Given the description of an element on the screen output the (x, y) to click on. 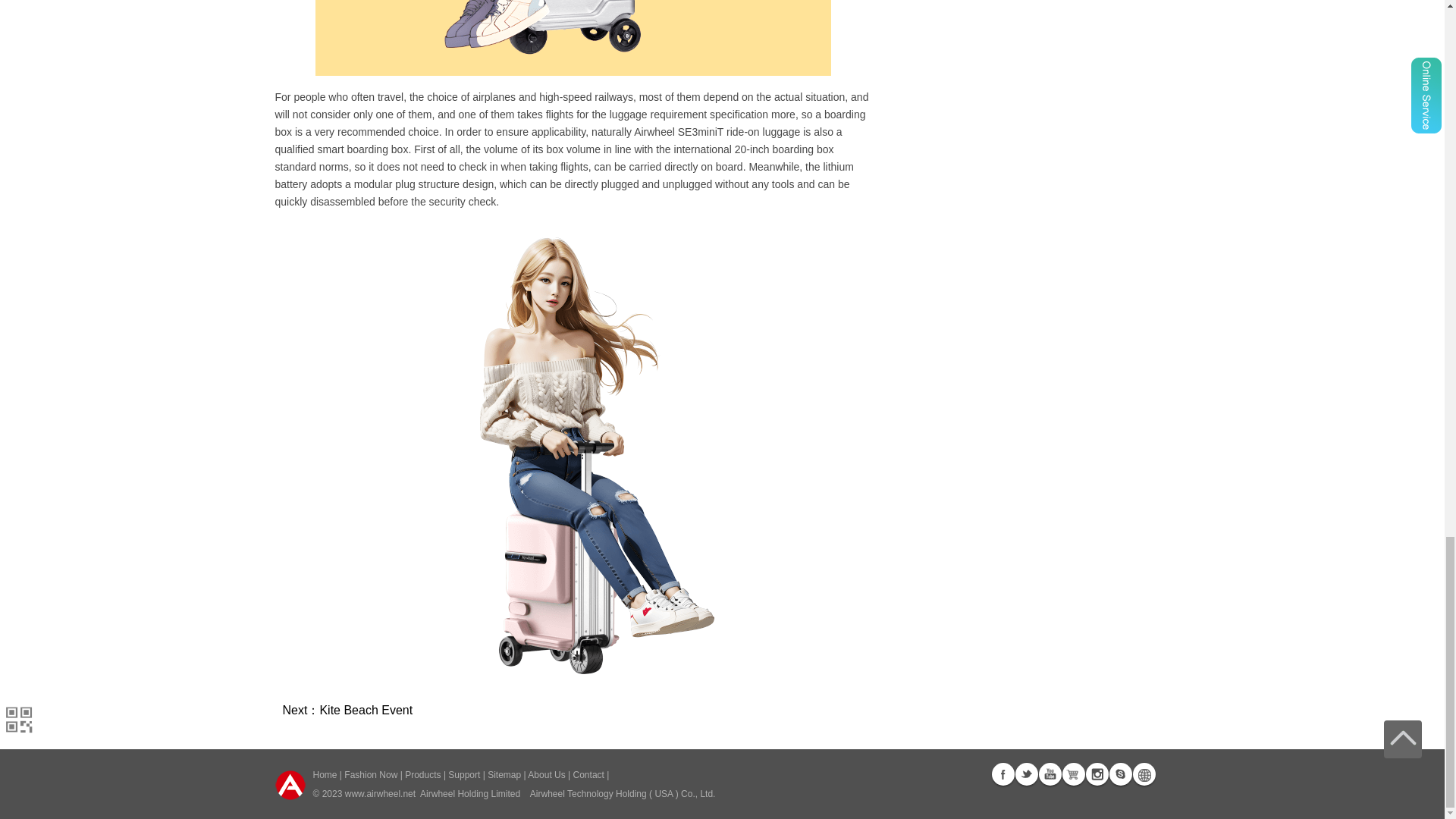
Youtube (1050, 773)
Kite Beach Event (365, 709)
Skype (1119, 773)
Facebook (1002, 773)
Twitter (1025, 773)
Instagram (1097, 773)
Global (1144, 773)
